Given the description of an element on the screen output the (x, y) to click on. 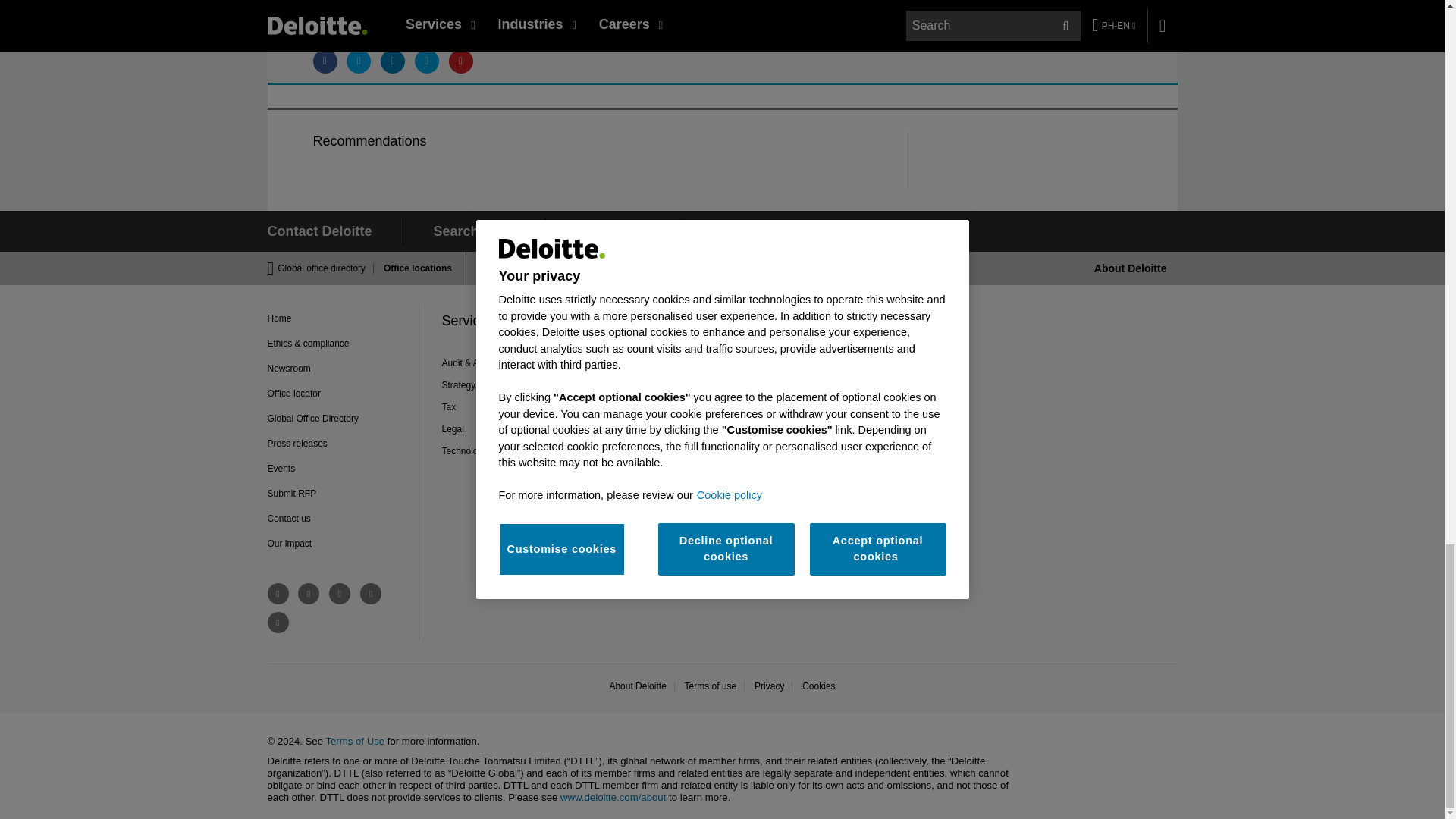
Share via Facebook (324, 61)
Share via Pinterest (460, 61)
Global office directory (326, 267)
Share via Email (426, 61)
Share via LinkedIn (392, 61)
Share via Twitter (358, 61)
About Deloitte (1130, 268)
Office locations (413, 267)
